Given the description of an element on the screen output the (x, y) to click on. 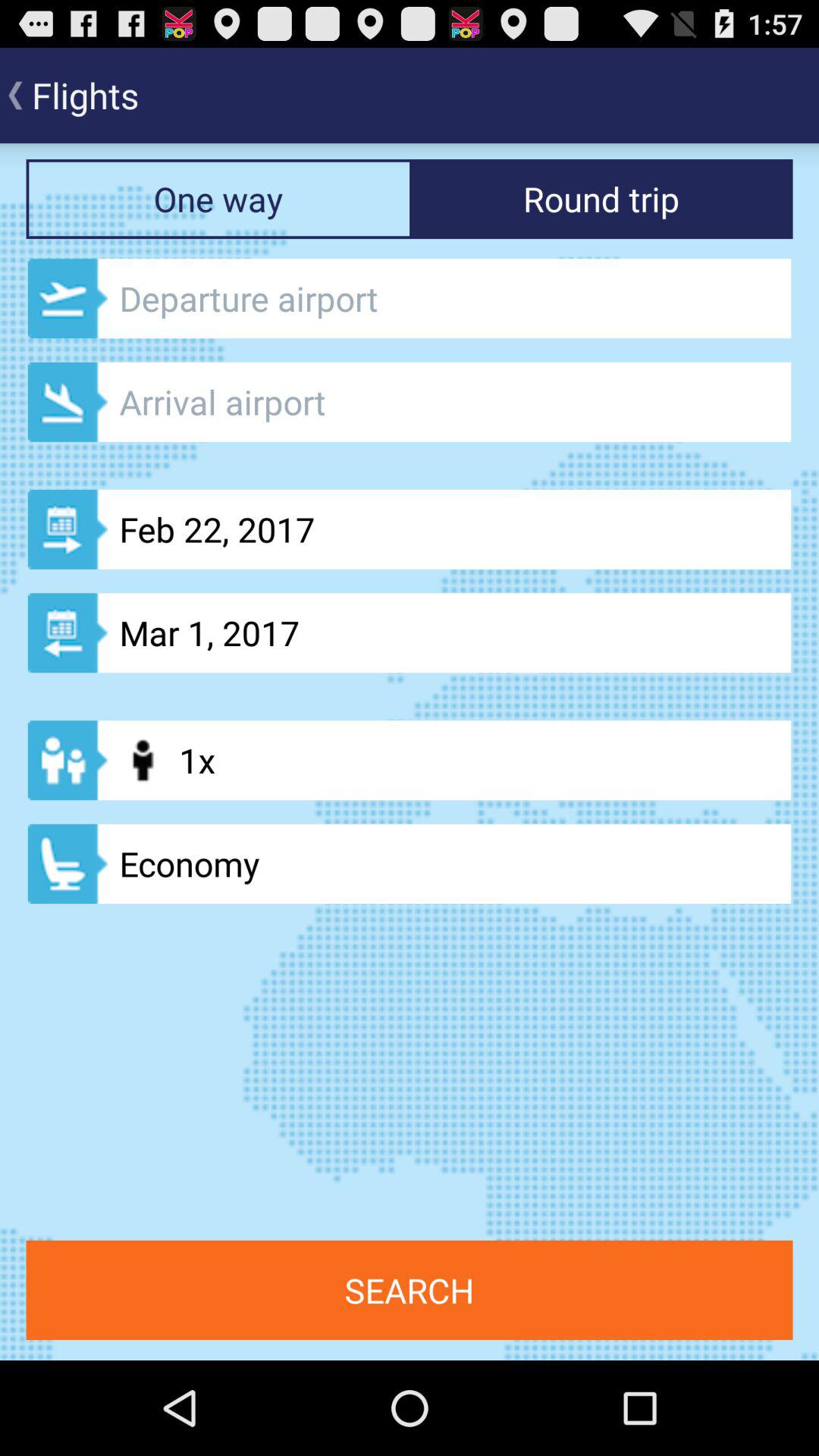
select the arrival airport (409, 401)
